Given the description of an element on the screen output the (x, y) to click on. 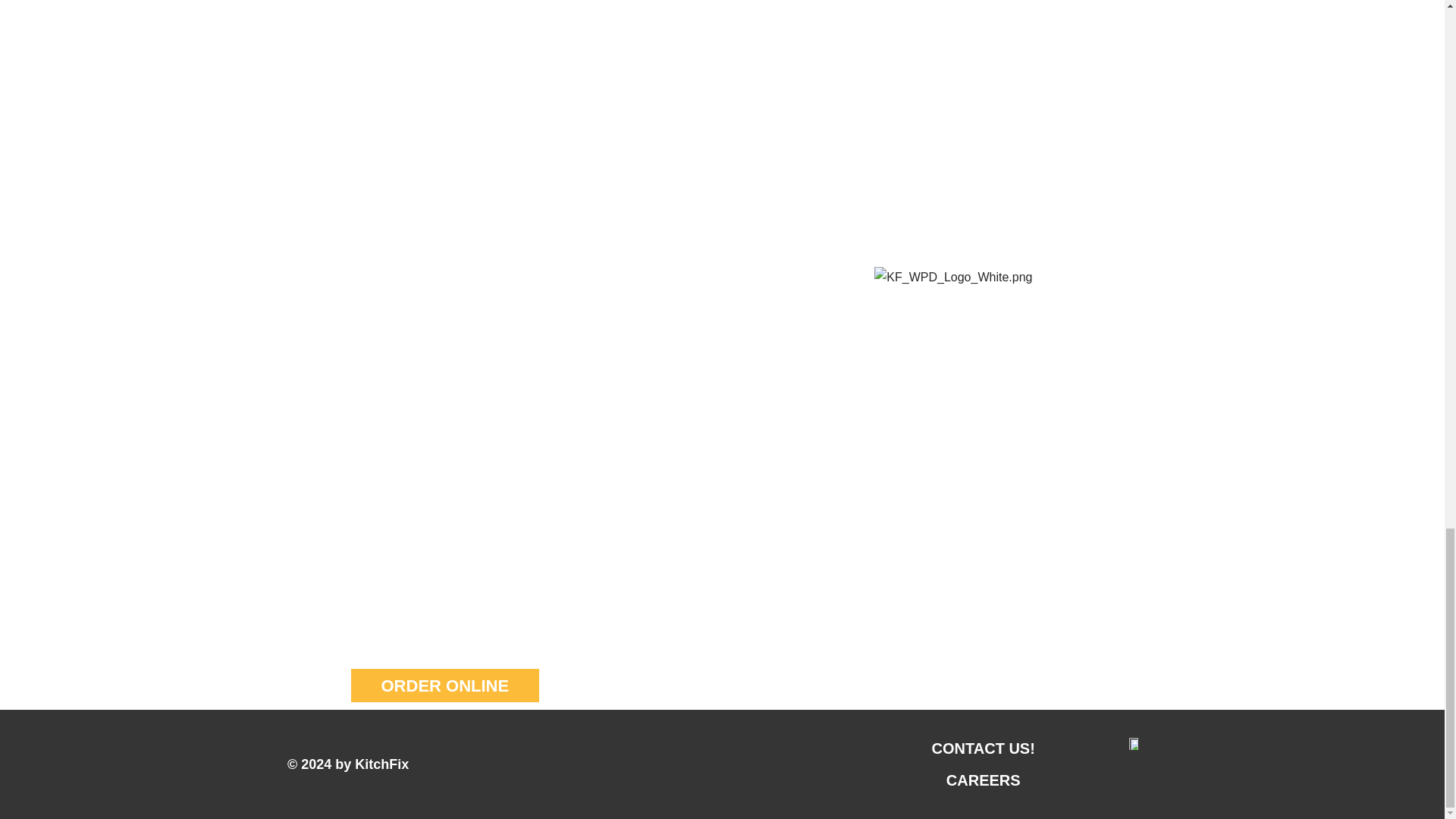
ORDER ONLINE (444, 685)
CONTACT US! (983, 748)
CAREERS (983, 780)
